Given the description of an element on the screen output the (x, y) to click on. 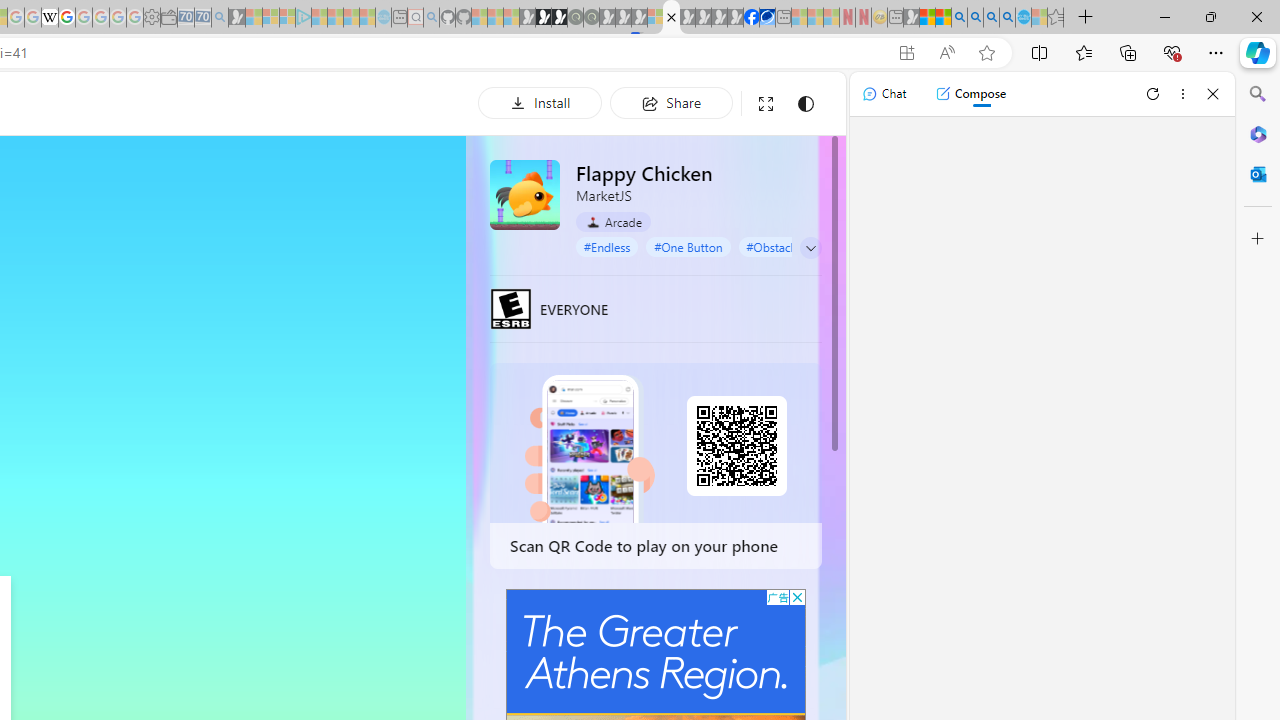
Compose (970, 93)
Google Chrome Internet Browser Download - Search Images (1007, 17)
AutomationID: cbb (797, 596)
Arcade (613, 221)
AirNow.gov (767, 17)
